Given the description of an element on the screen output the (x, y) to click on. 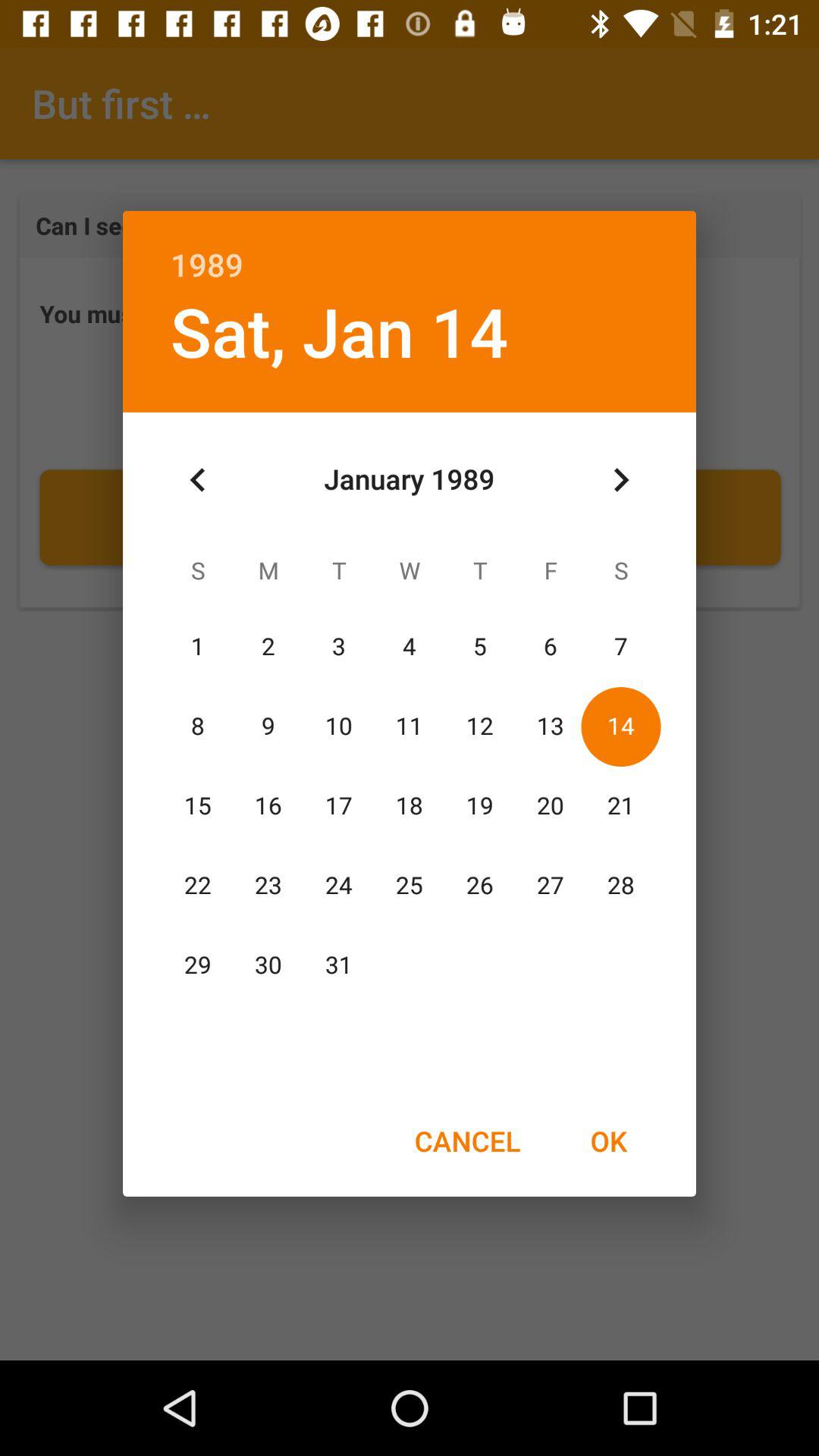
turn off the 1989 item (409, 248)
